Given the description of an element on the screen output the (x, y) to click on. 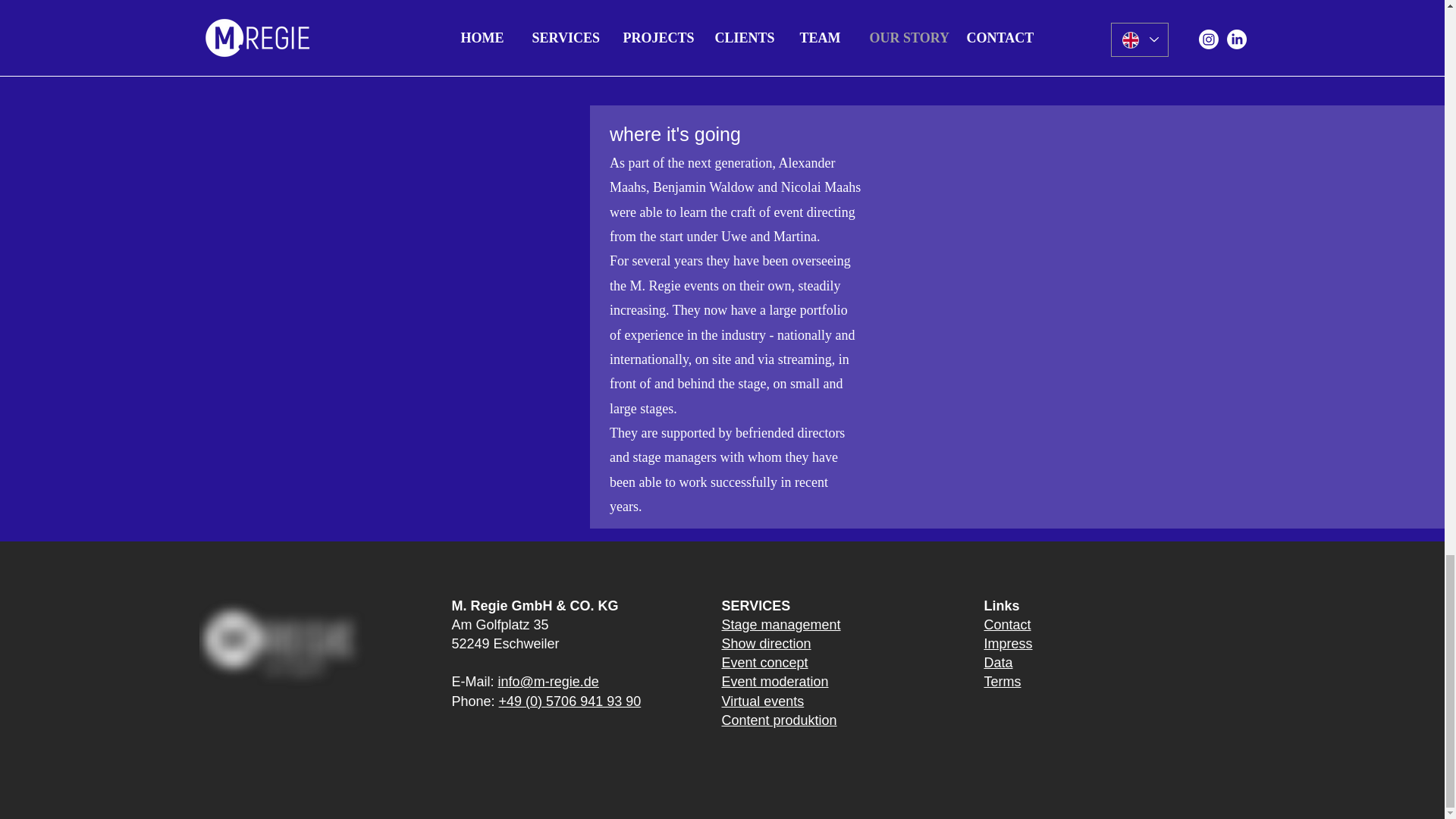
Stage management (781, 624)
Content produktion (779, 720)
Event moderation (775, 681)
Terms (1003, 681)
Data (998, 662)
Contact (1007, 624)
Impress (1008, 643)
Event concept (765, 662)
Virtual events (763, 701)
Show direction (766, 643)
